Given the description of an element on the screen output the (x, y) to click on. 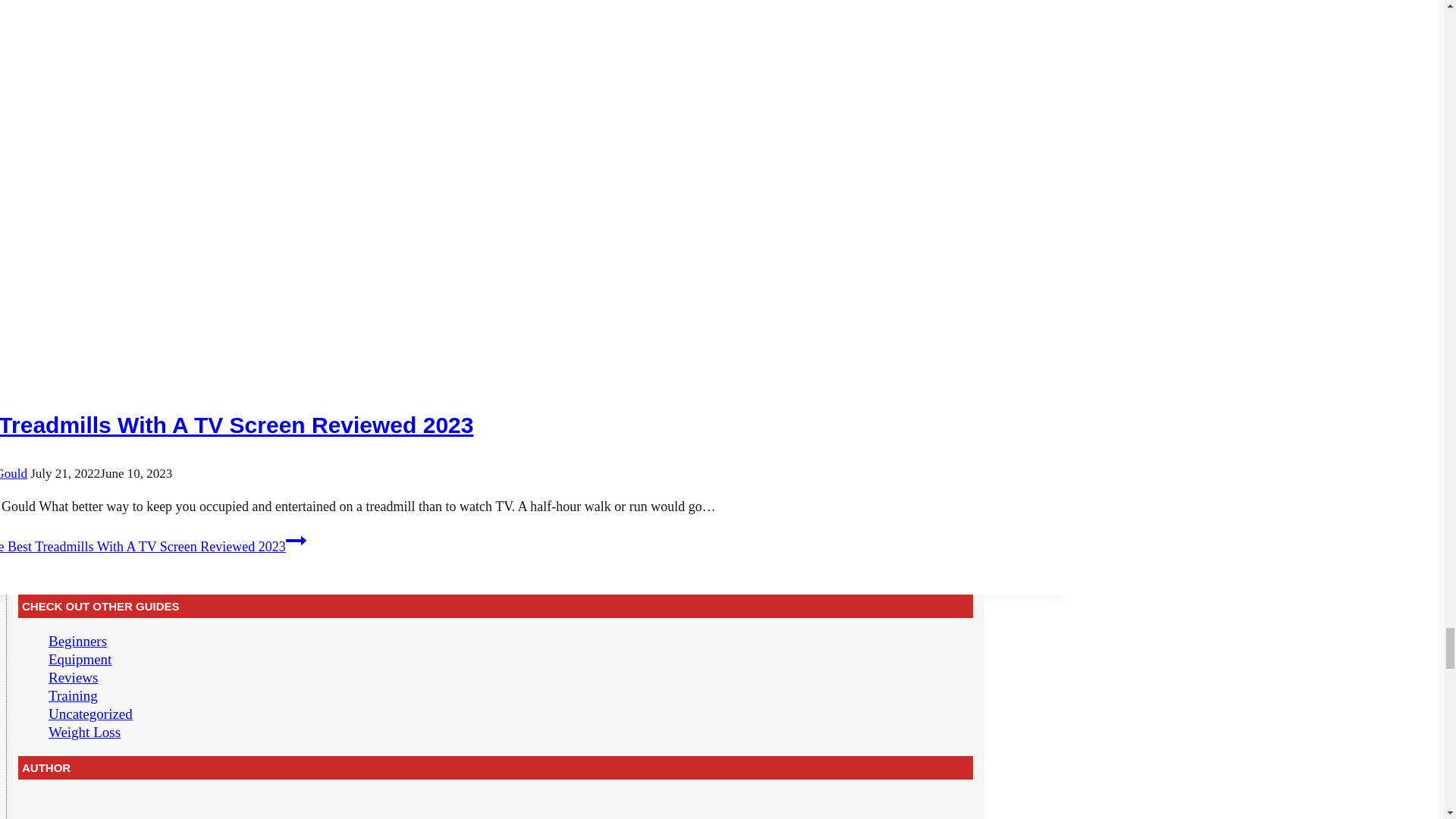
Continue (295, 540)
